Given the description of an element on the screen output the (x, y) to click on. 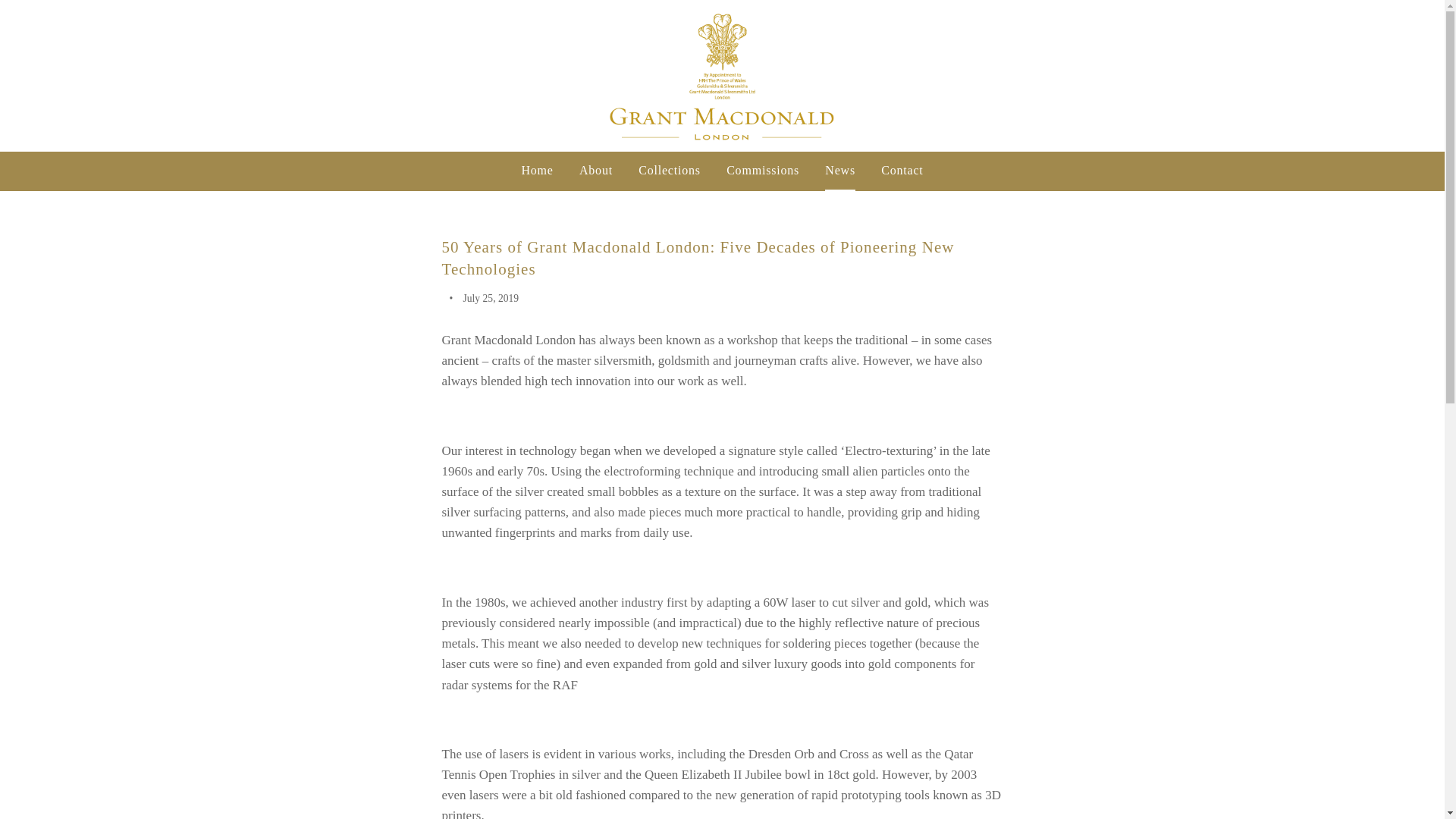
Search (1404, 75)
Commissions (762, 170)
Cart (1426, 75)
Contact (901, 170)
About (595, 170)
Menu (18, 75)
News (839, 170)
Collections (669, 170)
Home (536, 170)
